Given the description of an element on the screen output the (x, y) to click on. 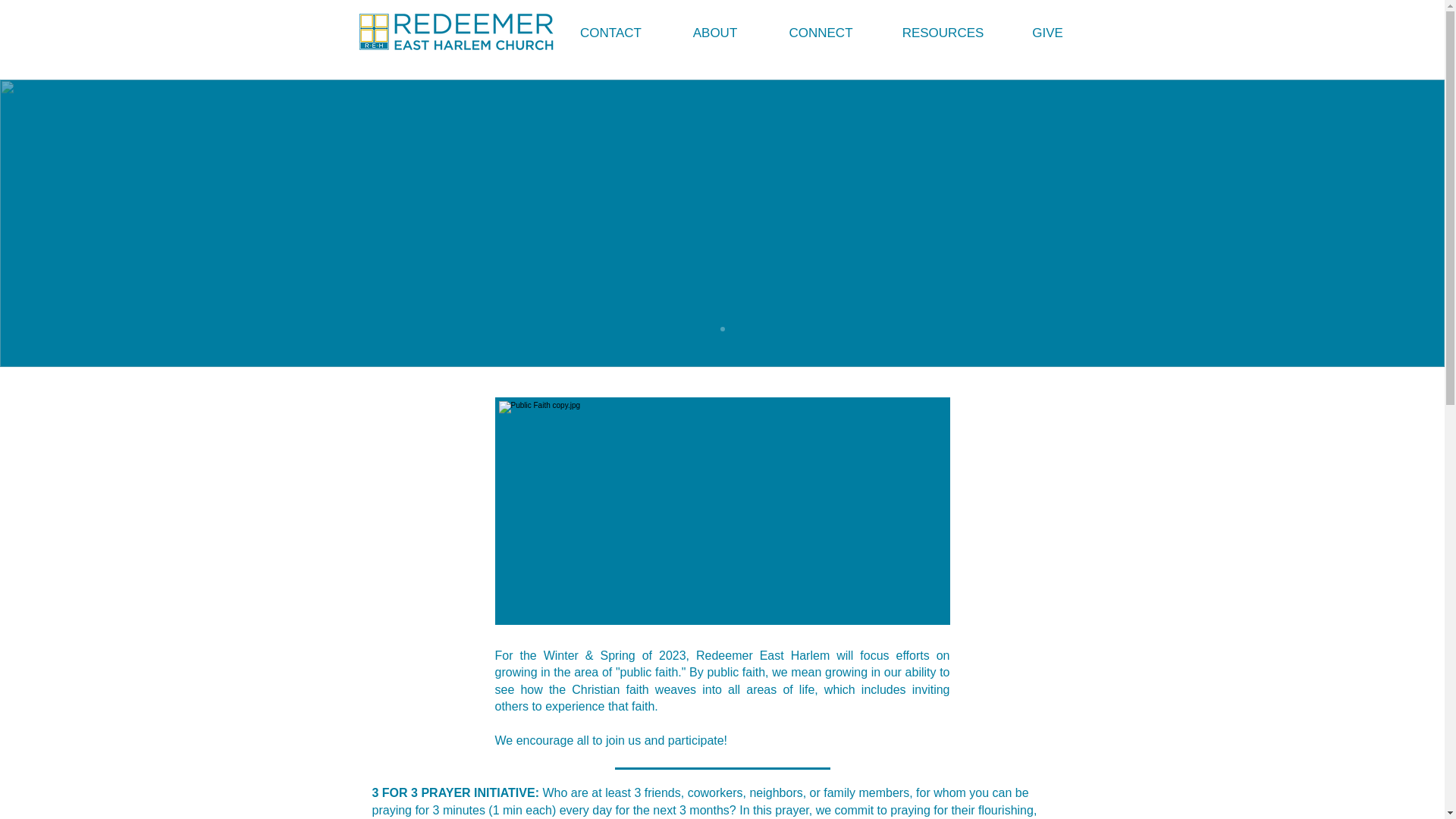
GIVE (1047, 32)
